Given the description of an element on the screen output the (x, y) to click on. 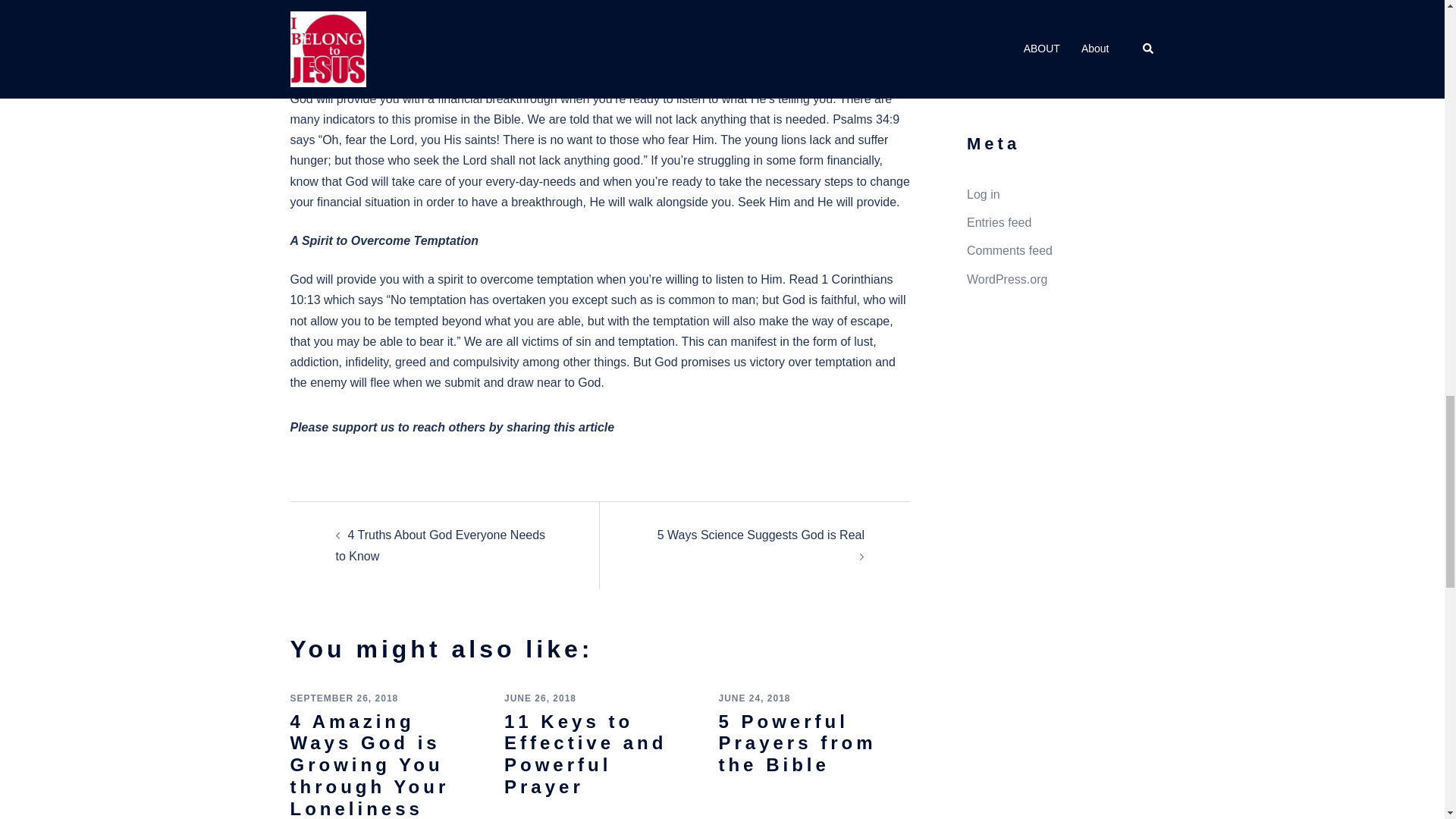
JUNE 24, 2018 (753, 697)
5 Powerful Prayers from the Bible (796, 743)
4 Truths About God Everyone Needs to Know (439, 544)
JUNE 26, 2018 (539, 697)
5 Ways Science Suggests God is Real (761, 534)
SEPTEMBER 26, 2018 (343, 697)
11 Keys to Effective and Powerful Prayer (584, 753)
4 Amazing Ways God is Growing You through Your Loneliness (368, 765)
